Given the description of an element on the screen output the (x, y) to click on. 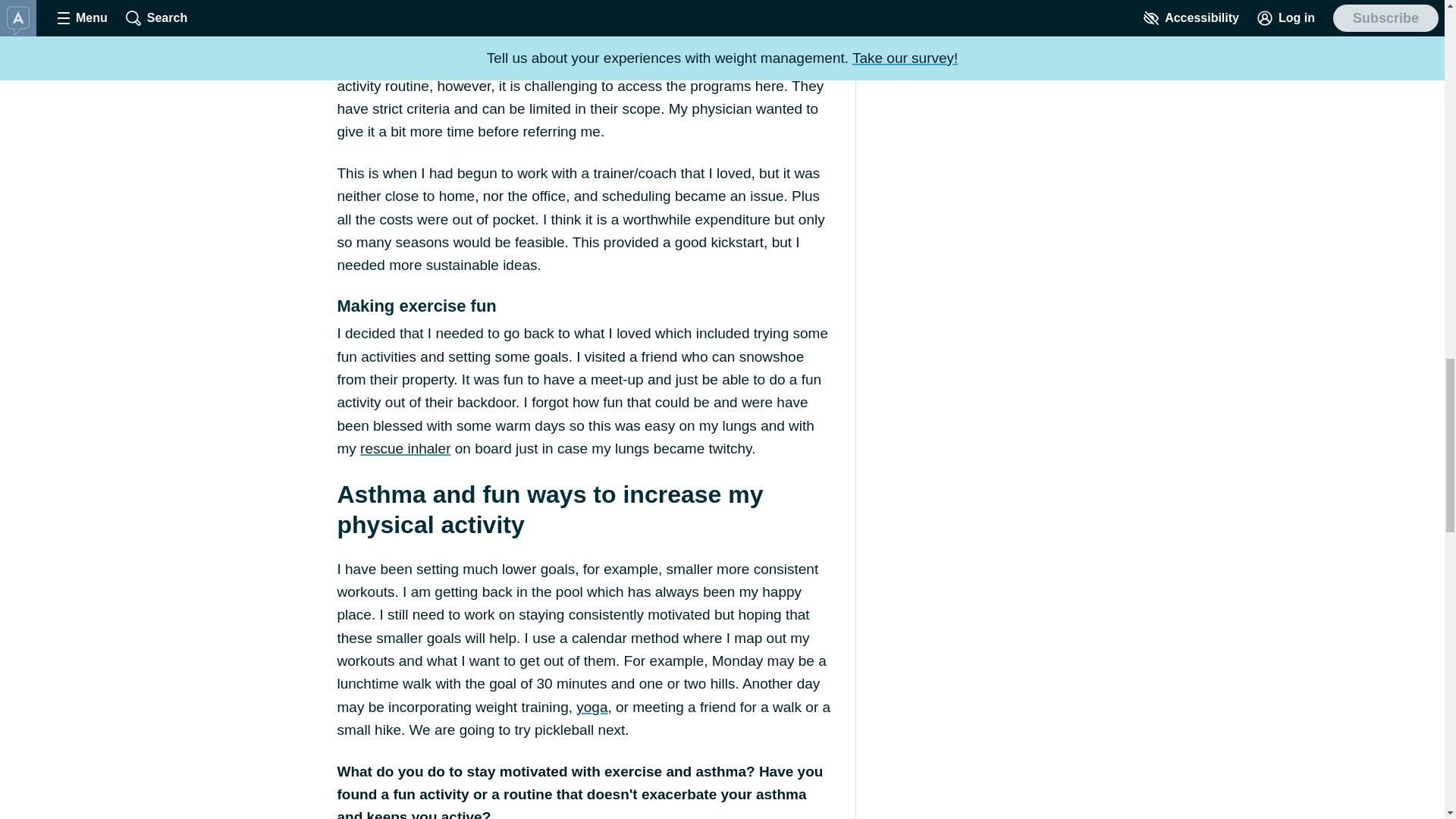
rescue inhaler (404, 448)
yoga (591, 706)
